Given the description of an element on the screen output the (x, y) to click on. 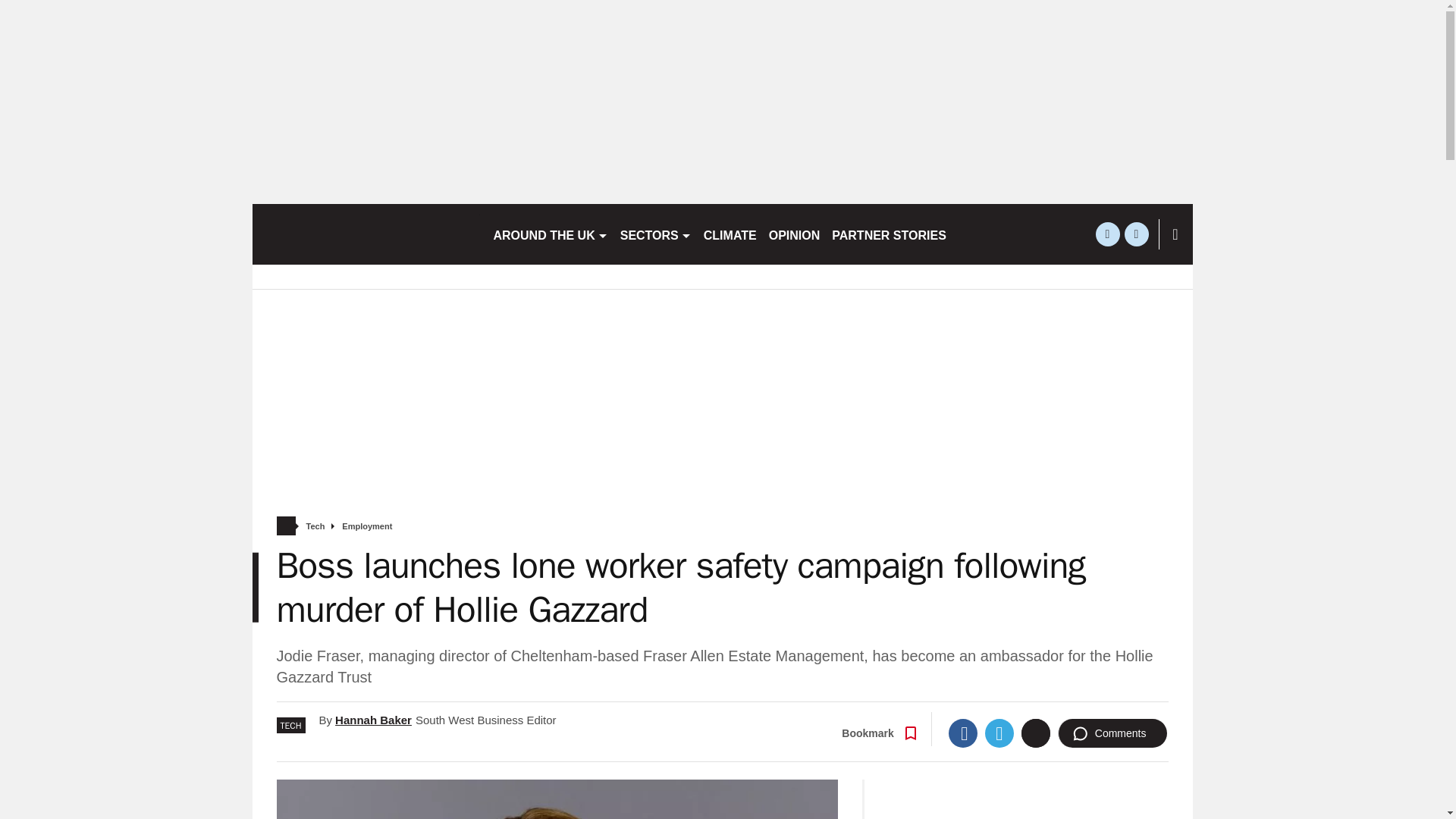
PARTNER STORIES (888, 233)
OPINION (794, 233)
Twitter (999, 733)
linkedin (1136, 233)
Facebook (962, 733)
birminghampost (365, 233)
Comments (1112, 733)
SECTORS (655, 233)
AROUND THE UK (549, 233)
twitter (1106, 233)
